Given the description of an element on the screen output the (x, y) to click on. 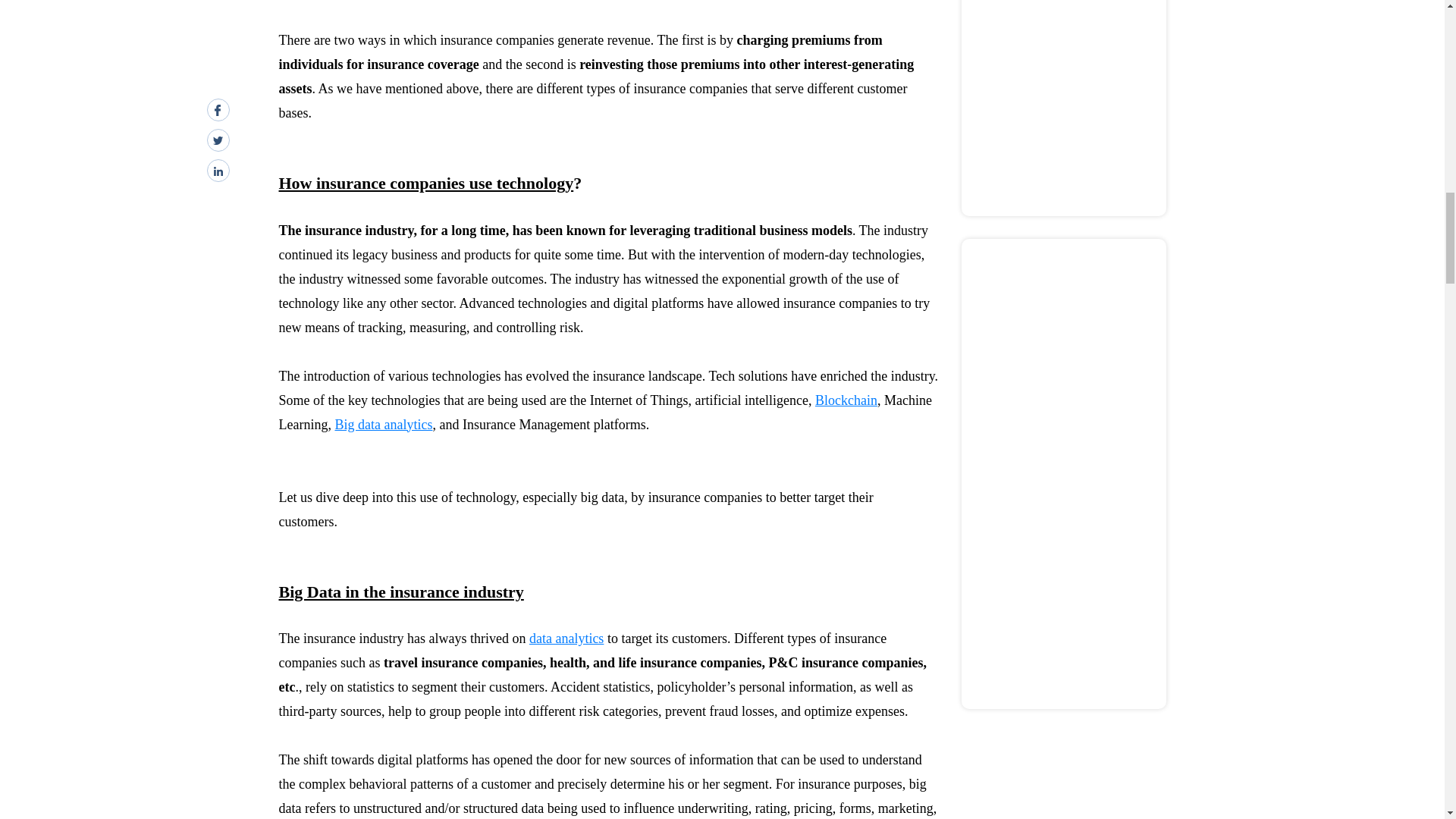
Advertisement (1063, 104)
data analytics (566, 638)
Blockchain (846, 400)
Big data analytics (383, 424)
